Given the description of an element on the screen output the (x, y) to click on. 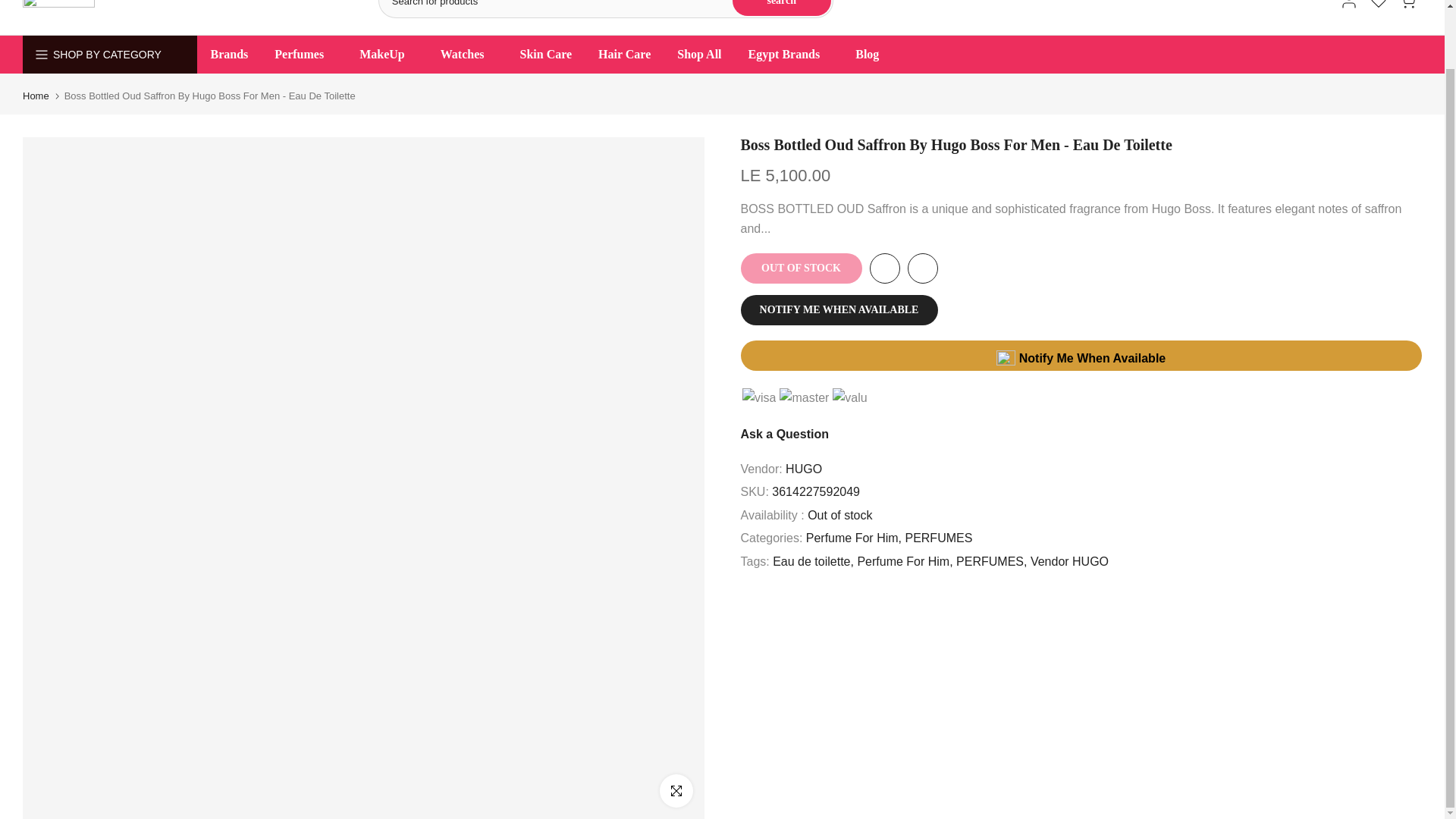
search (781, 7)
OUT OF STOCK (800, 268)
Brands (229, 54)
Blog (867, 54)
Skin Care (545, 54)
Shop All (699, 54)
Perfumes (304, 54)
Notify Me When Available (1080, 355)
Hair Care (624, 54)
Watches (466, 54)
